Given the description of an element on the screen output the (x, y) to click on. 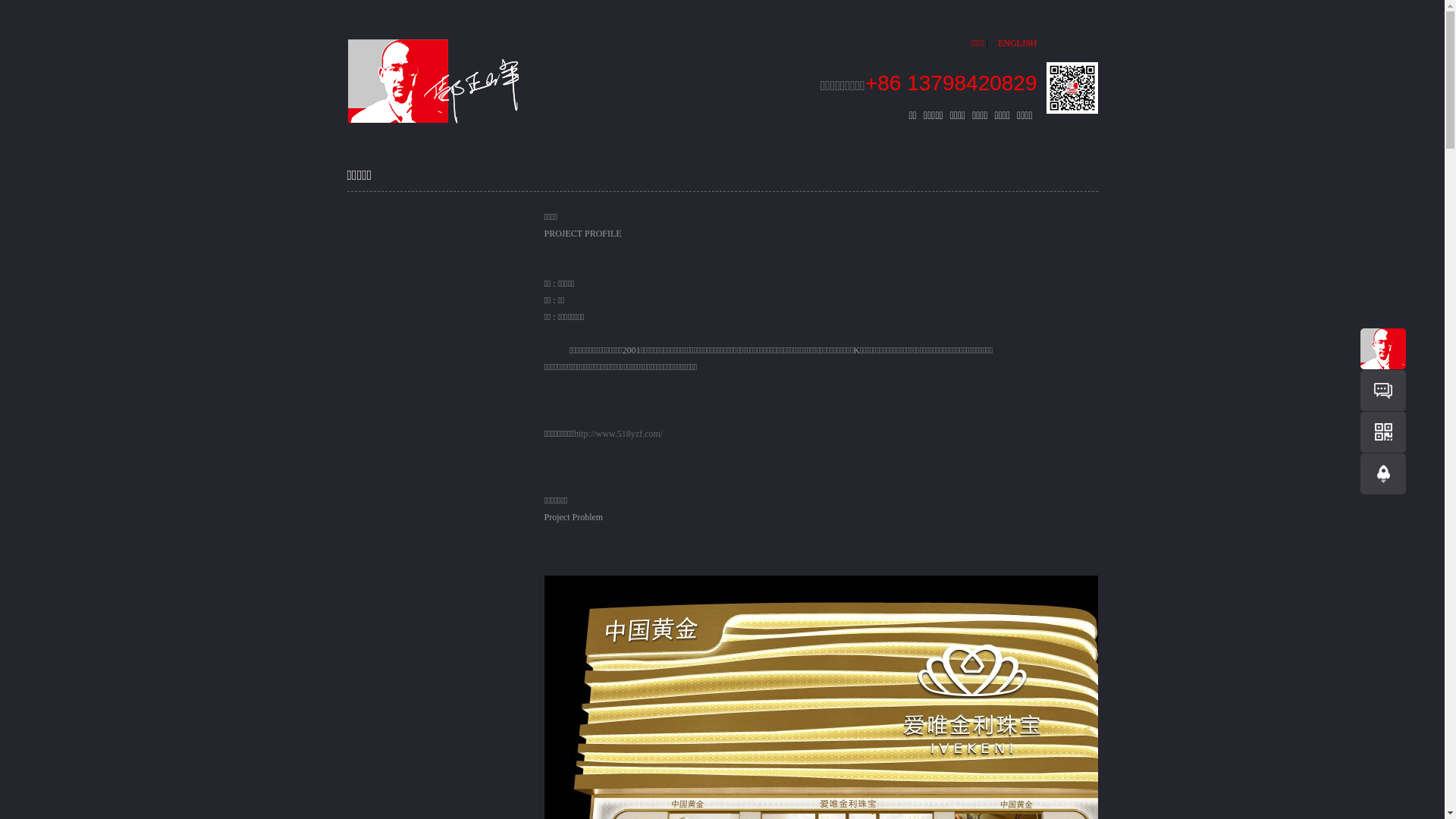
http://www.518yzf.com/ Element type: text (618, 433)
ENGLISH Element type: text (1013, 43)
